Given the description of an element on the screen output the (x, y) to click on. 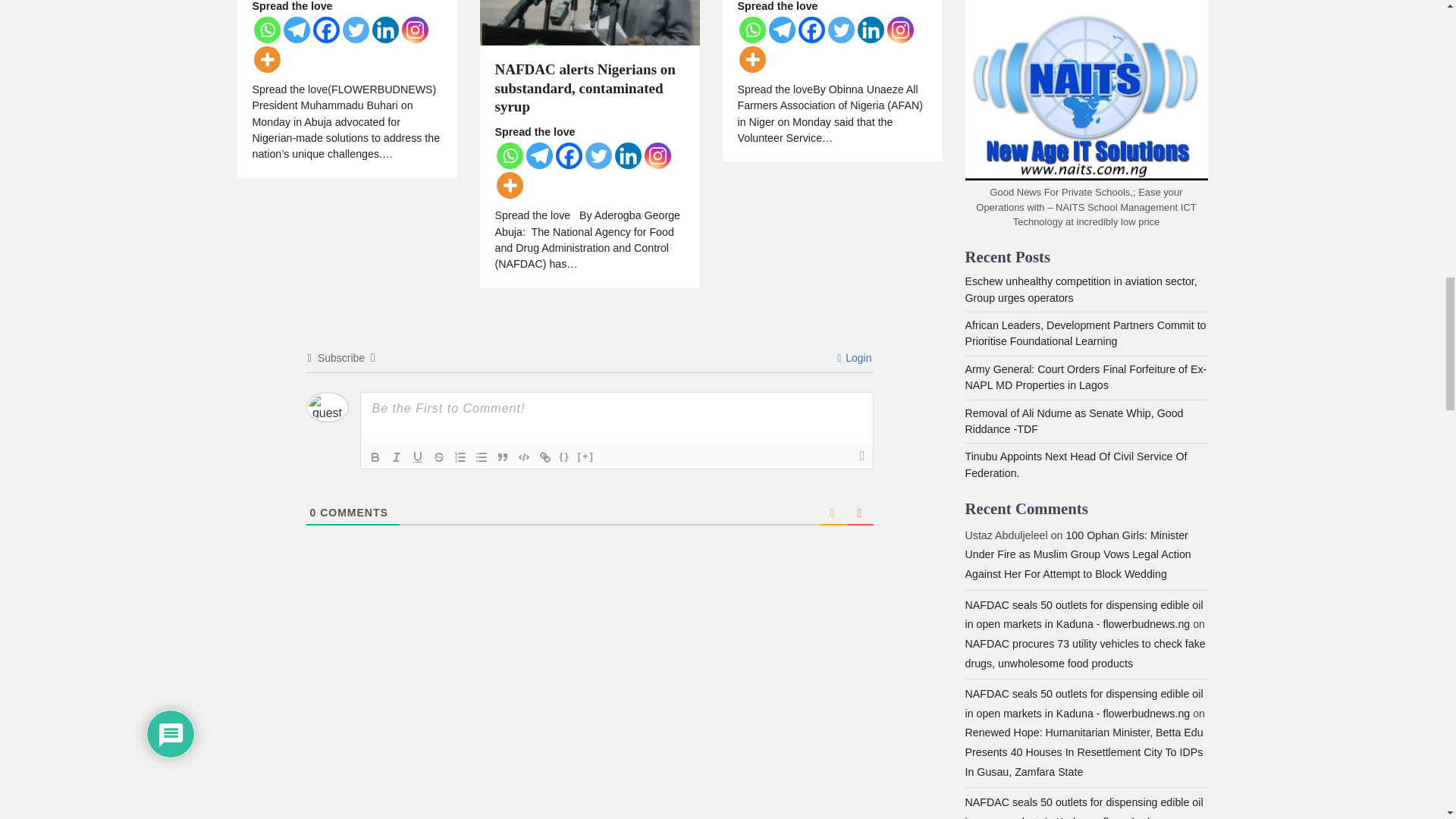
Instagram (414, 29)
More (266, 58)
Twitter (355, 29)
Linkedin (384, 29)
Whatsapp (509, 155)
Whatsapp (266, 29)
Telegram (296, 29)
Facebook (326, 29)
